Given the description of an element on the screen output the (x, y) to click on. 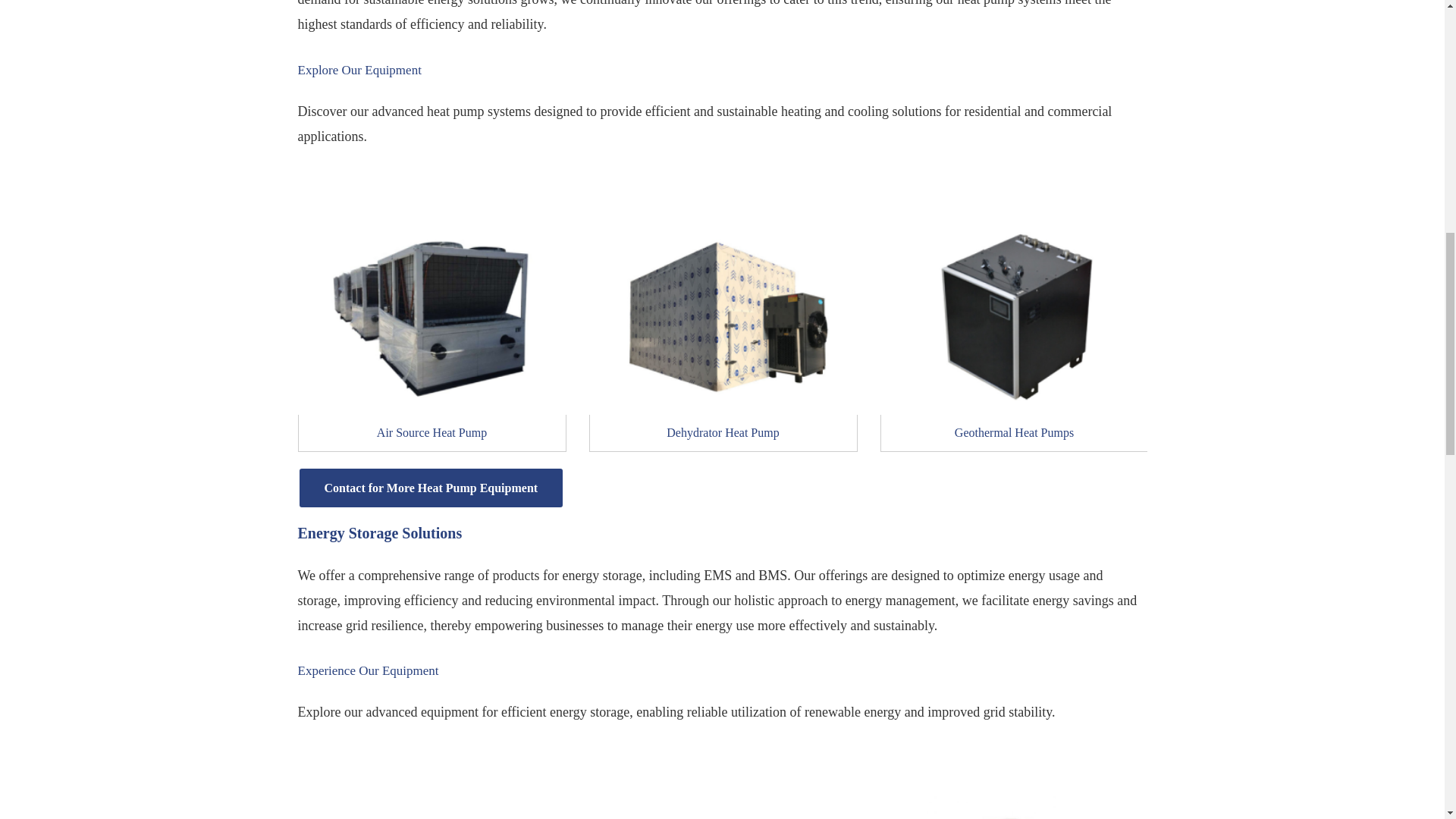
Energy Infrastructure 5 Energy Infrastructure (140, 317)
Energy Infrastructure 2 Energy Infrastructure (722, 317)
Energy Infrastructure 3 Energy Infrastructure (1013, 317)
Contact for More Heat Pump Equipment (430, 487)
Energy Infrastructure 1 Energy Infrastructure (431, 317)
